Given the description of an element on the screen output the (x, y) to click on. 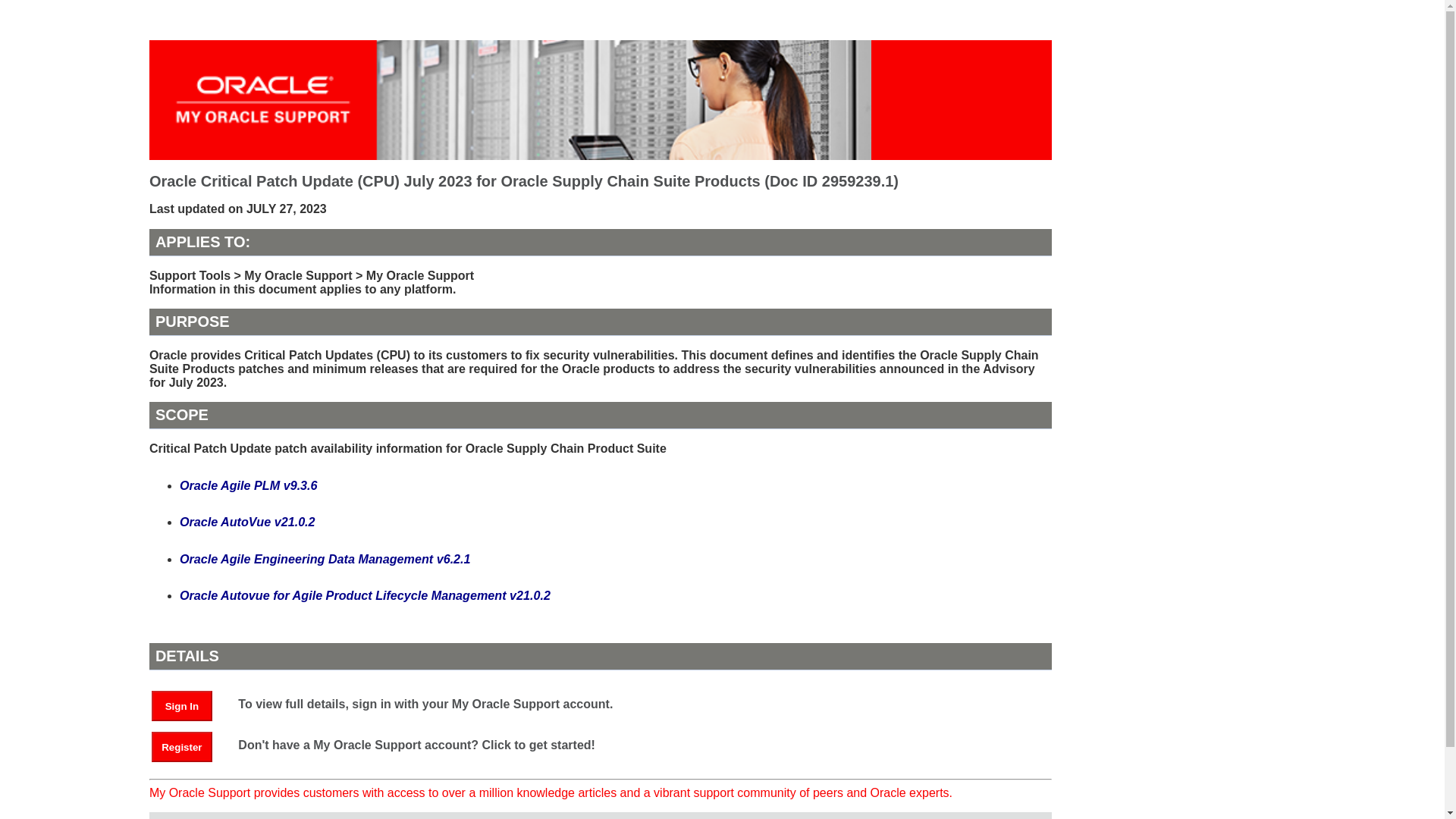
Register (181, 747)
Sign In (189, 705)
Sign In (181, 706)
Register (189, 746)
